Given the description of an element on the screen output the (x, y) to click on. 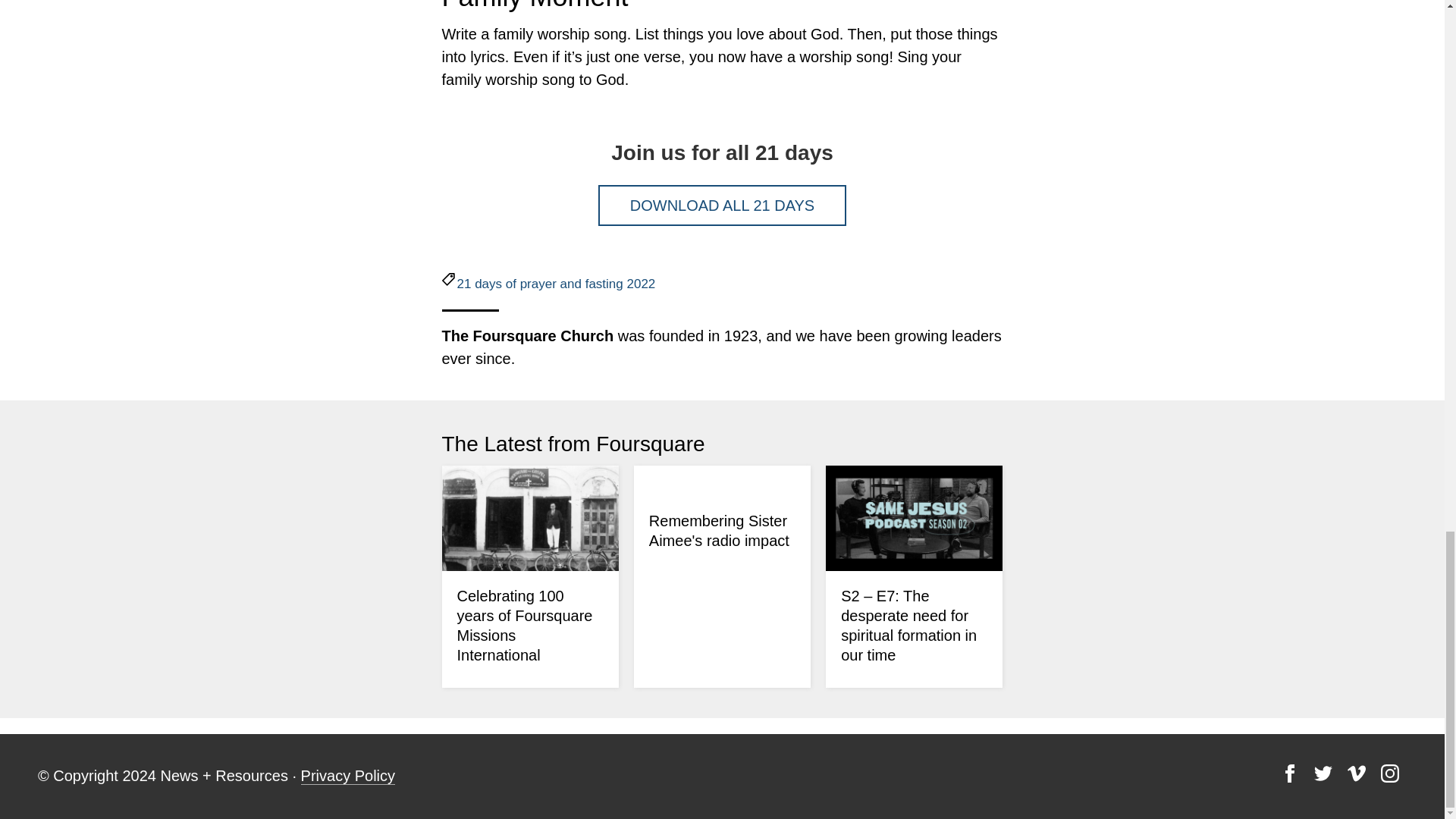
Privacy Policy (347, 775)
Remembering Sister Aimee's radio impact (719, 530)
DOWNLOAD ALL 21 DAYS (721, 205)
Celebrating 100 years of Foursquare Missions International (524, 625)
The Foursquare Church (526, 335)
Posts by The Foursquare Church (526, 335)
21 days of prayer and fasting 2022 (556, 283)
